Given the description of an element on the screen output the (x, y) to click on. 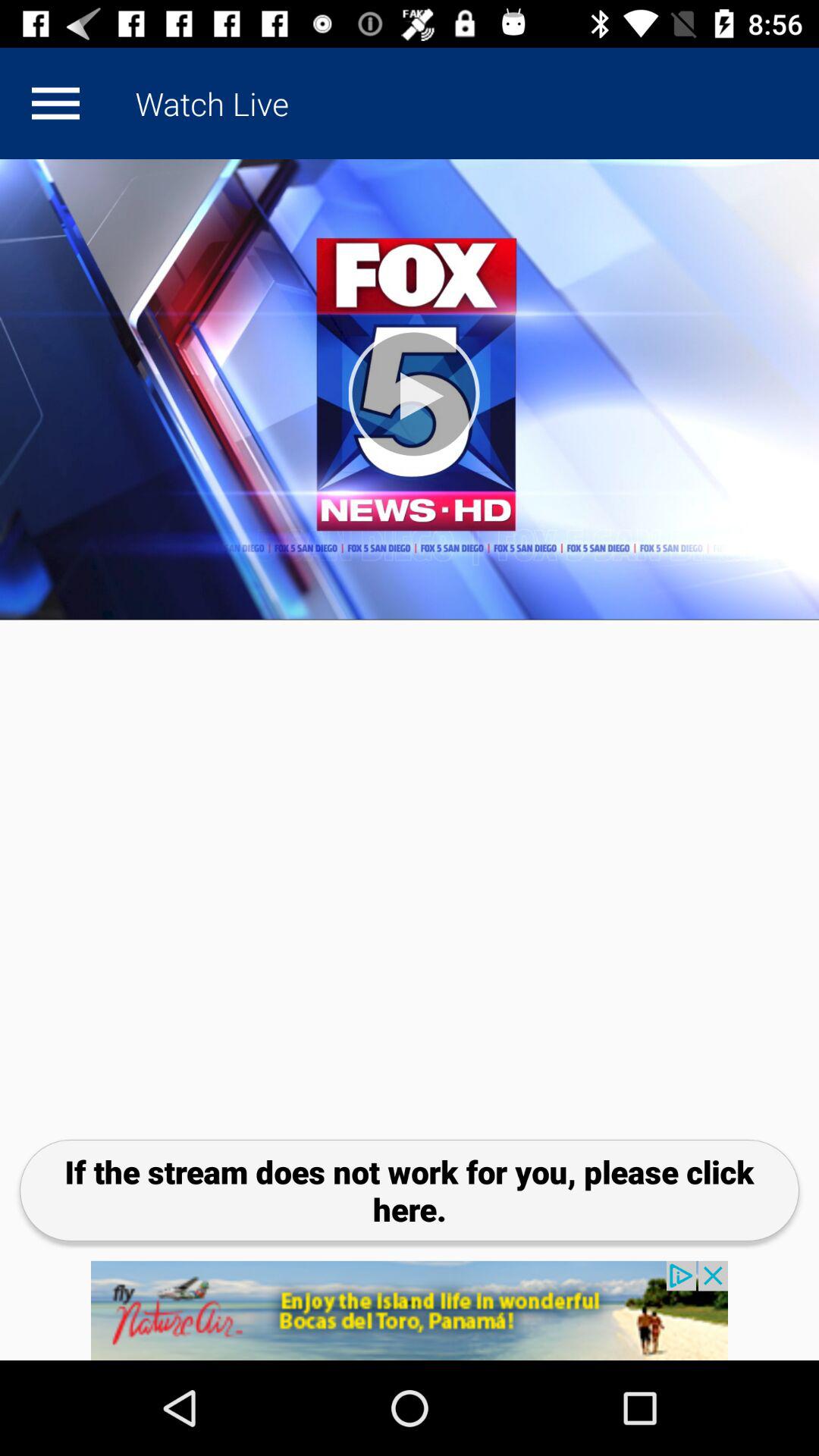
view the adversitement (409, 1310)
